Given the description of an element on the screen output the (x, y) to click on. 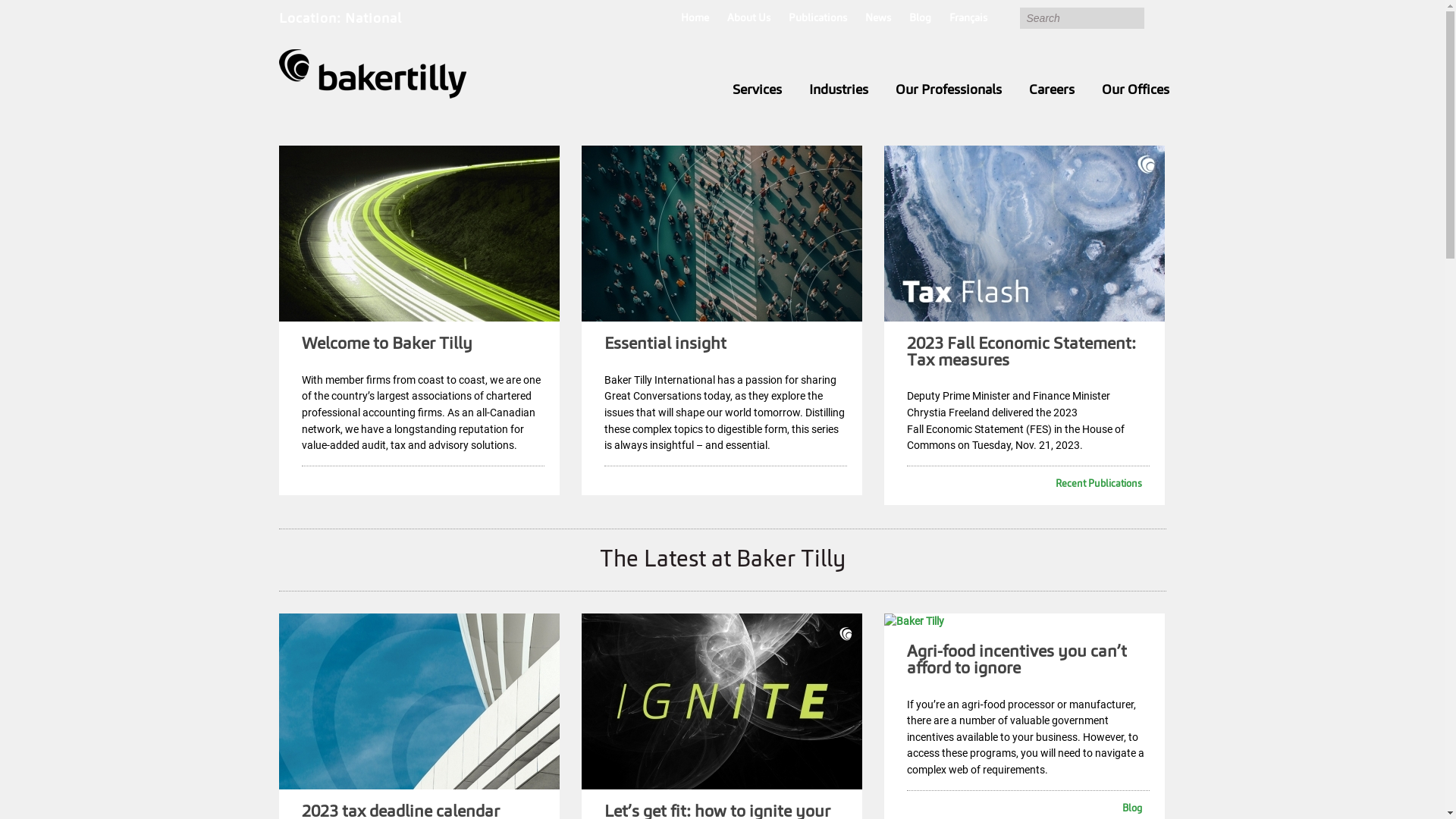
Search Element type: hover (1081, 17)
Publications Element type: text (817, 19)
Blog Element type: text (919, 19)
Baker Tilly Element type: text (372, 73)
Location: National Element type: text (340, 18)
Welcome to Baker Tilly Element type: text (386, 343)
Industries Element type: text (837, 90)
News Element type: text (877, 19)
Careers Element type: text (1050, 90)
2023 Fall Economic Statement: Tax measures Element type: text (1020, 352)
Essential insight Element type: text (665, 343)
About Us Element type: text (747, 19)
Recent Publications Element type: text (1024, 484)
Our Offices Element type: text (1134, 90)
Our Professionals Element type: text (947, 90)
Home Element type: text (694, 19)
Services Element type: text (756, 90)
submit Element type: text (1154, 17)
Blog Element type: text (1024, 809)
